Given the description of an element on the screen output the (x, y) to click on. 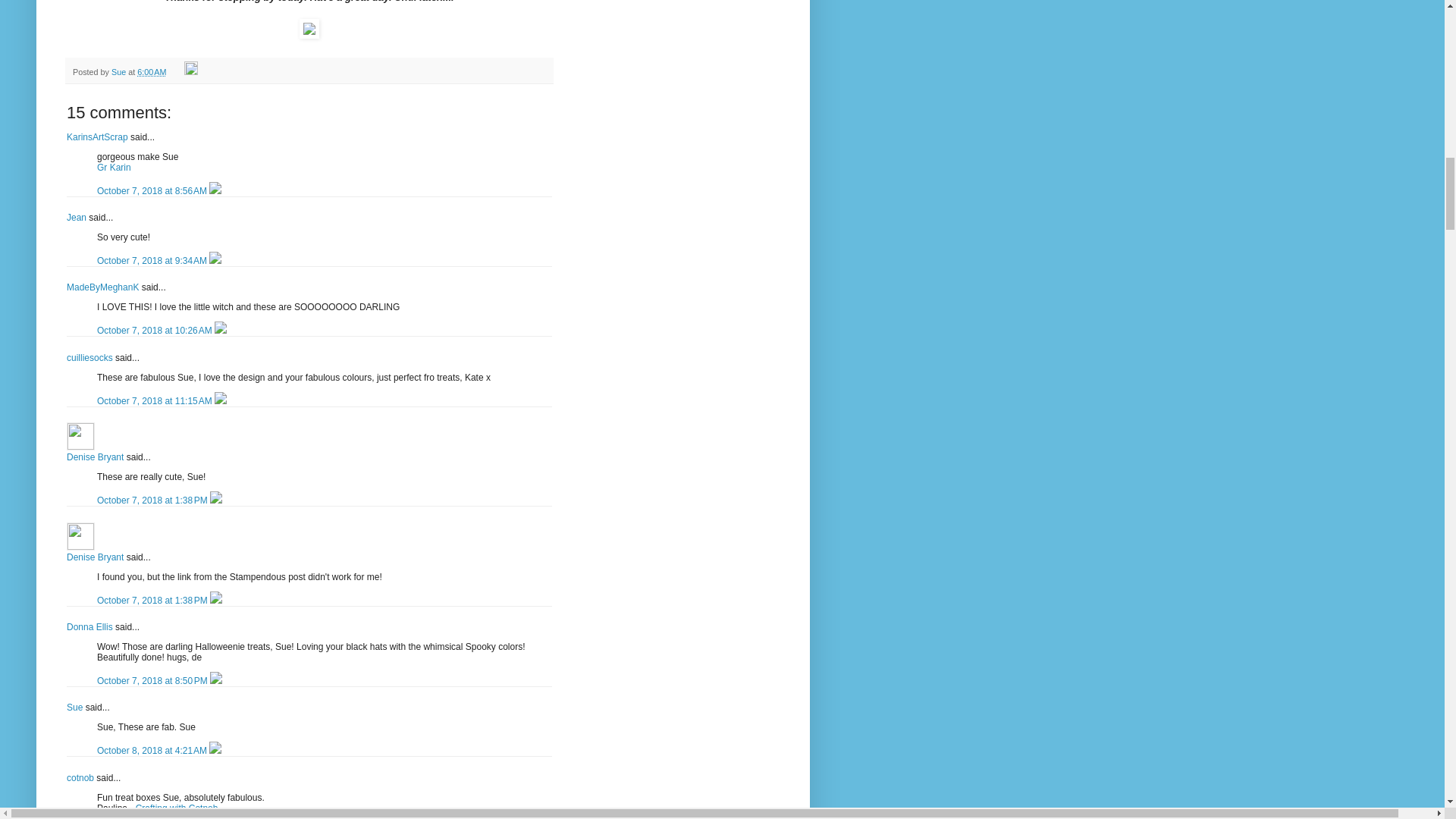
Delete Comment (220, 330)
Email Post (176, 71)
author profile (120, 71)
comment permalink (153, 190)
KarinsArtScrap (97, 136)
Delete Comment (215, 260)
Jean (75, 217)
Sue (120, 71)
Delete Comment (215, 190)
comment permalink (155, 400)
